Given the description of an element on the screen output the (x, y) to click on. 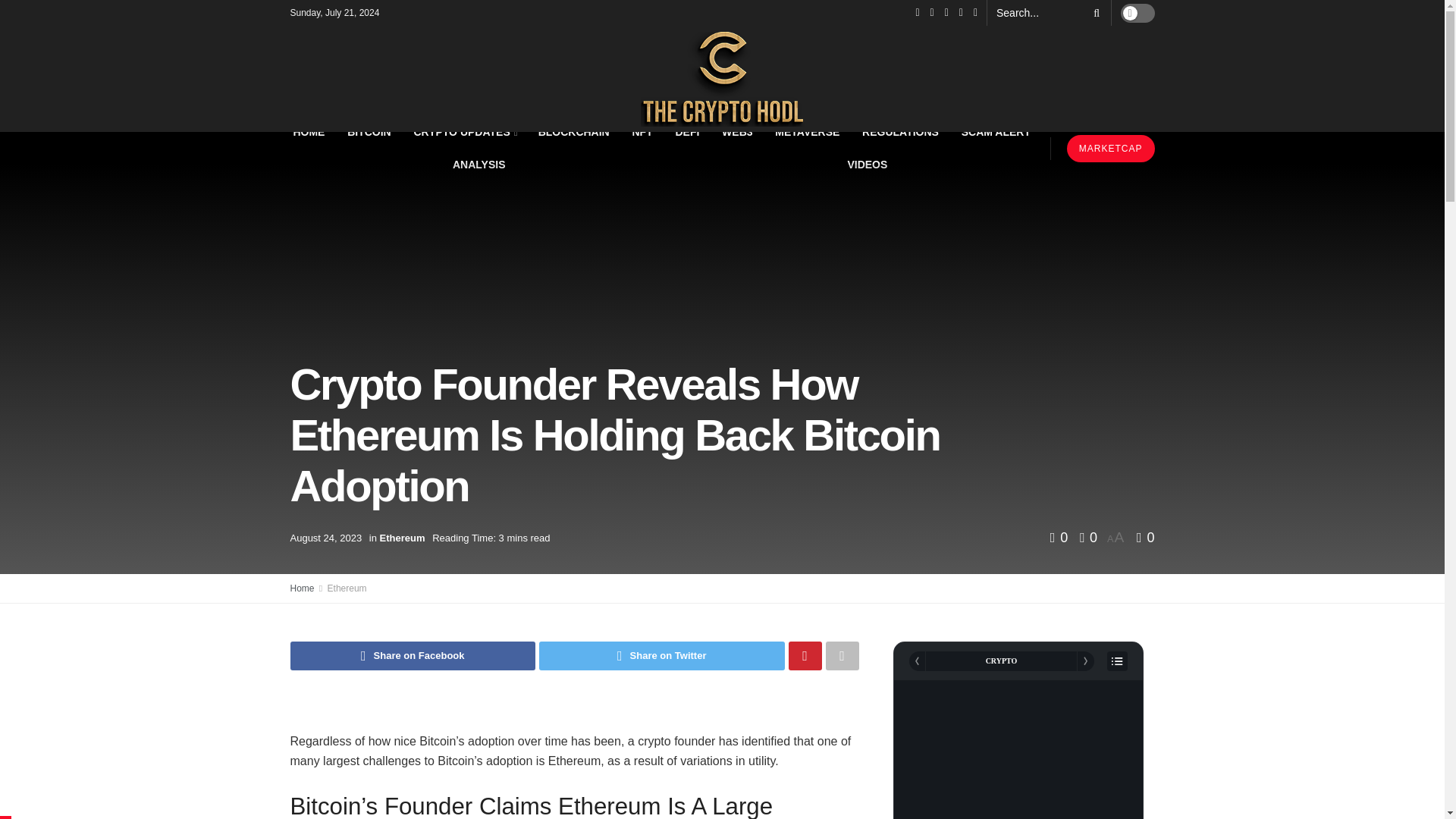
WEB3 (737, 131)
MARKETCAP (1110, 148)
DEFI (687, 131)
VIDEOS (866, 164)
HOME (308, 131)
METAVERSE (807, 131)
ANALYSIS (477, 164)
CRYPTO UPDATES (464, 131)
REGULATIONS (900, 131)
BITCOIN (368, 131)
BLOCKCHAIN (573, 131)
SCAM ALERT (995, 131)
